Given the description of an element on the screen output the (x, y) to click on. 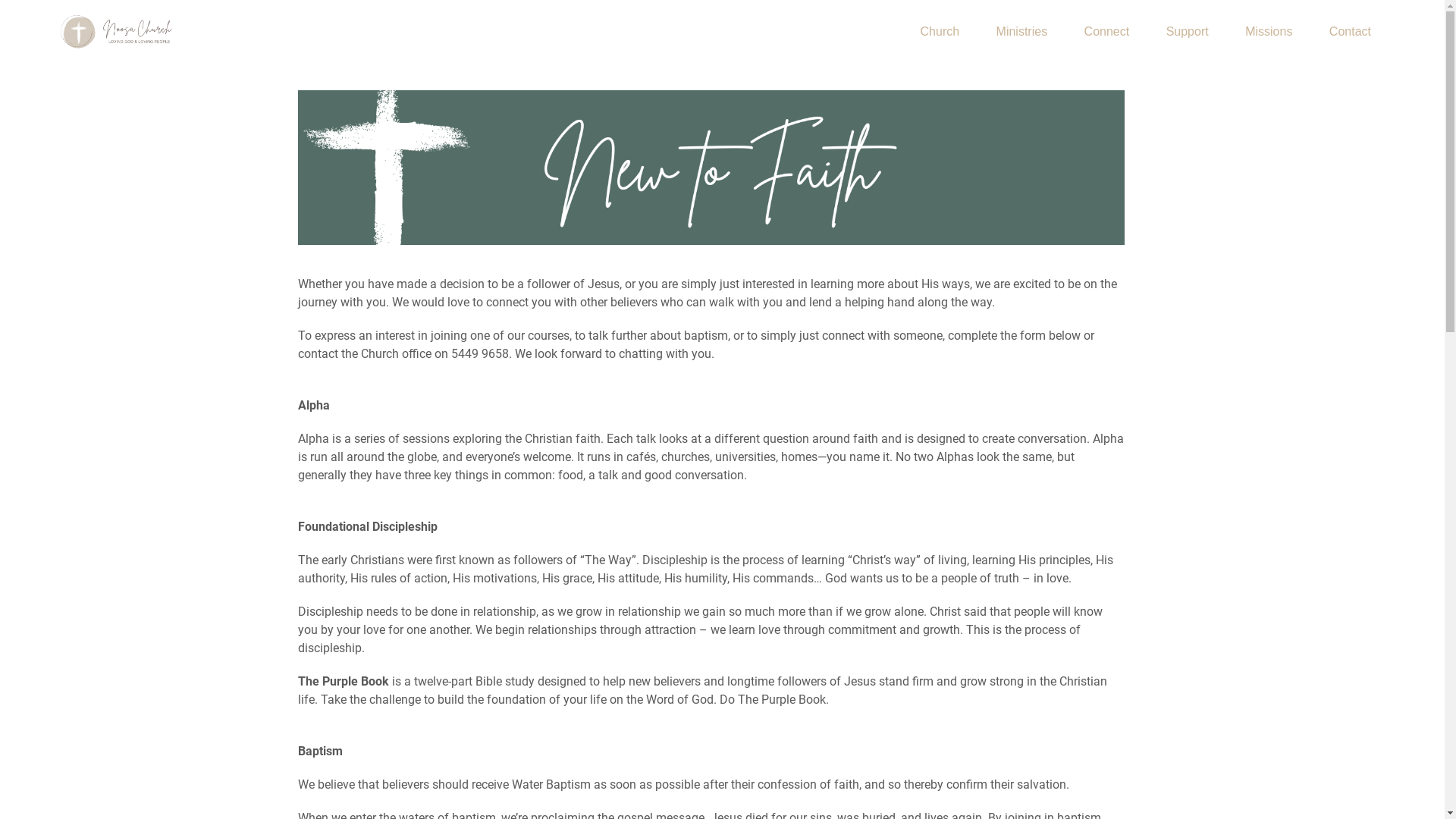
Connect Element type: text (1106, 31)
Church Element type: text (939, 31)
Support Element type: text (1187, 31)
Ministries Element type: text (1021, 31)
Contact Element type: text (1349, 31)
Missions Element type: text (1268, 31)
